Given the description of an element on the screen output the (x, y) to click on. 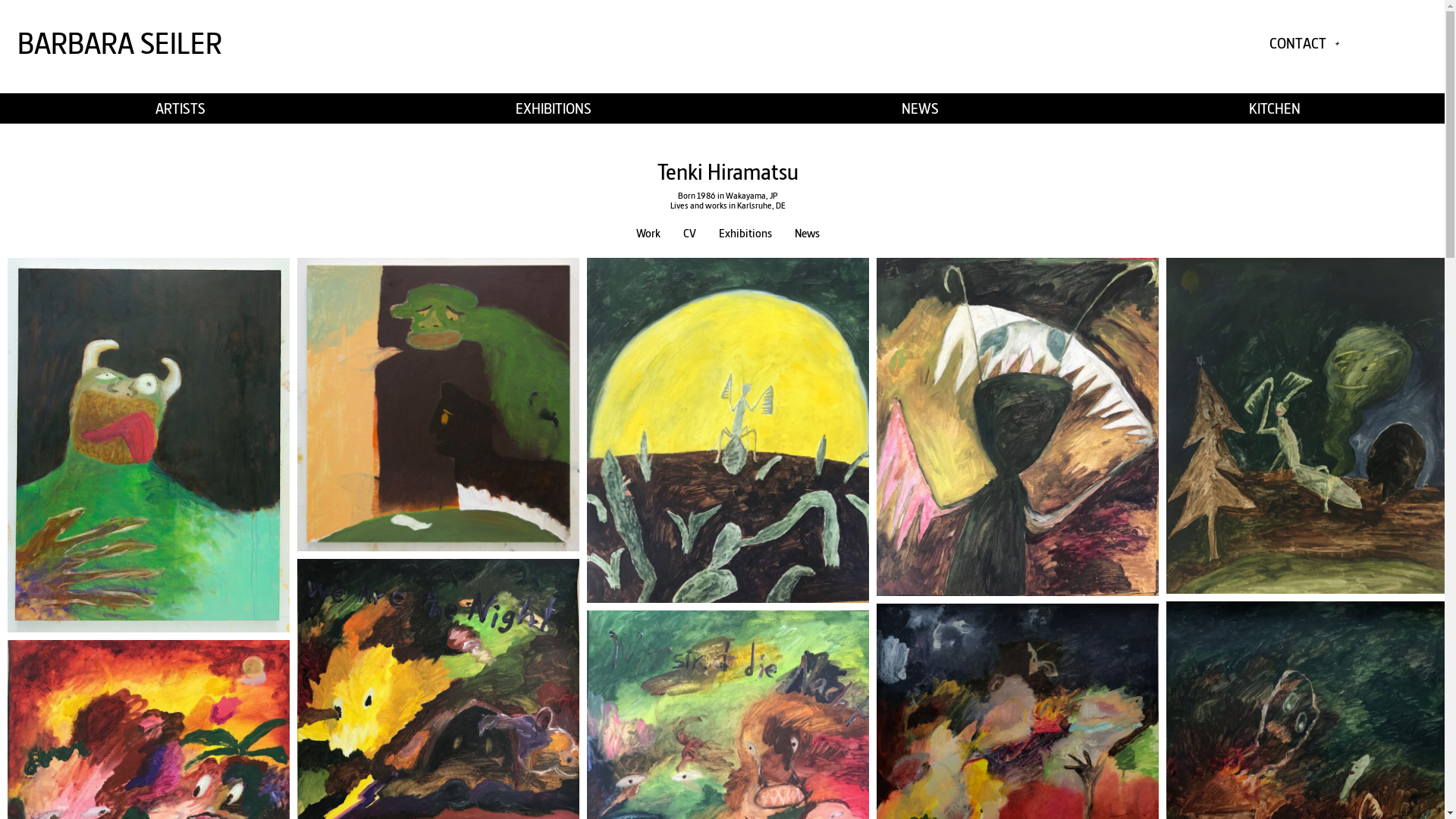
NEWS Element type: text (919, 108)
CV Element type: text (689, 233)
EXHIBITIONS Element type: text (553, 108)
Exhibitions Element type: text (745, 233)
Work Element type: text (647, 233)
BARBARA SEILER Element type: text (119, 42)
News Element type: text (807, 233)
CONTACT Element type: text (1304, 43)
ARTISTS Element type: text (180, 108)
